Given the description of an element on the screen output the (x, y) to click on. 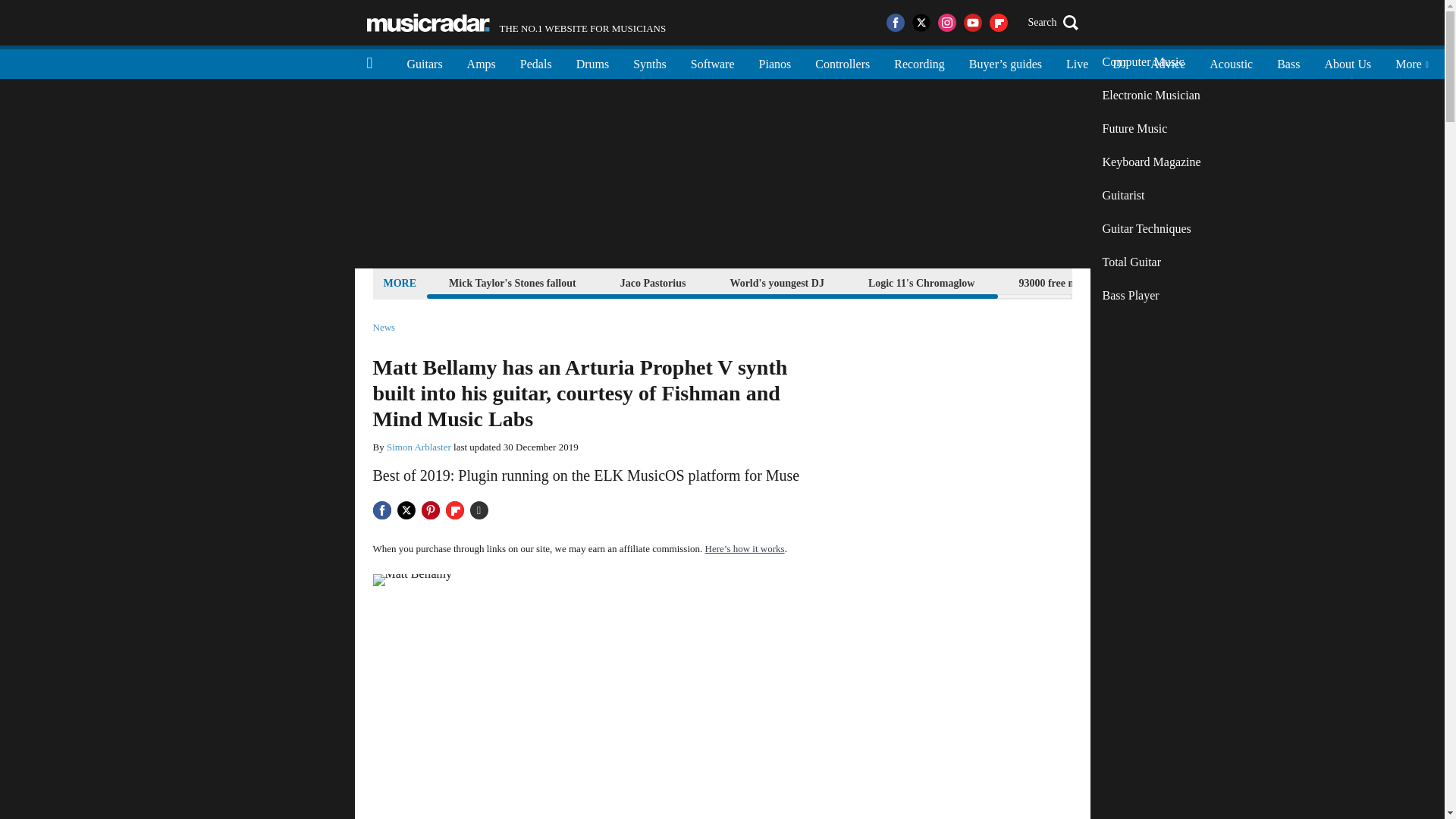
Bass (1288, 61)
Music Radar (427, 22)
Guitarist (1151, 195)
Guitar Techniques (516, 22)
93000 free music samples (1151, 228)
Pedals (1075, 282)
Electronic Musician (536, 61)
Keyboard Magazine (1151, 95)
Live (1151, 162)
Amps (1077, 61)
Advice (481, 61)
Acoustic (1167, 61)
Computer Music (1230, 61)
DJ (1151, 61)
